Given the description of an element on the screen output the (x, y) to click on. 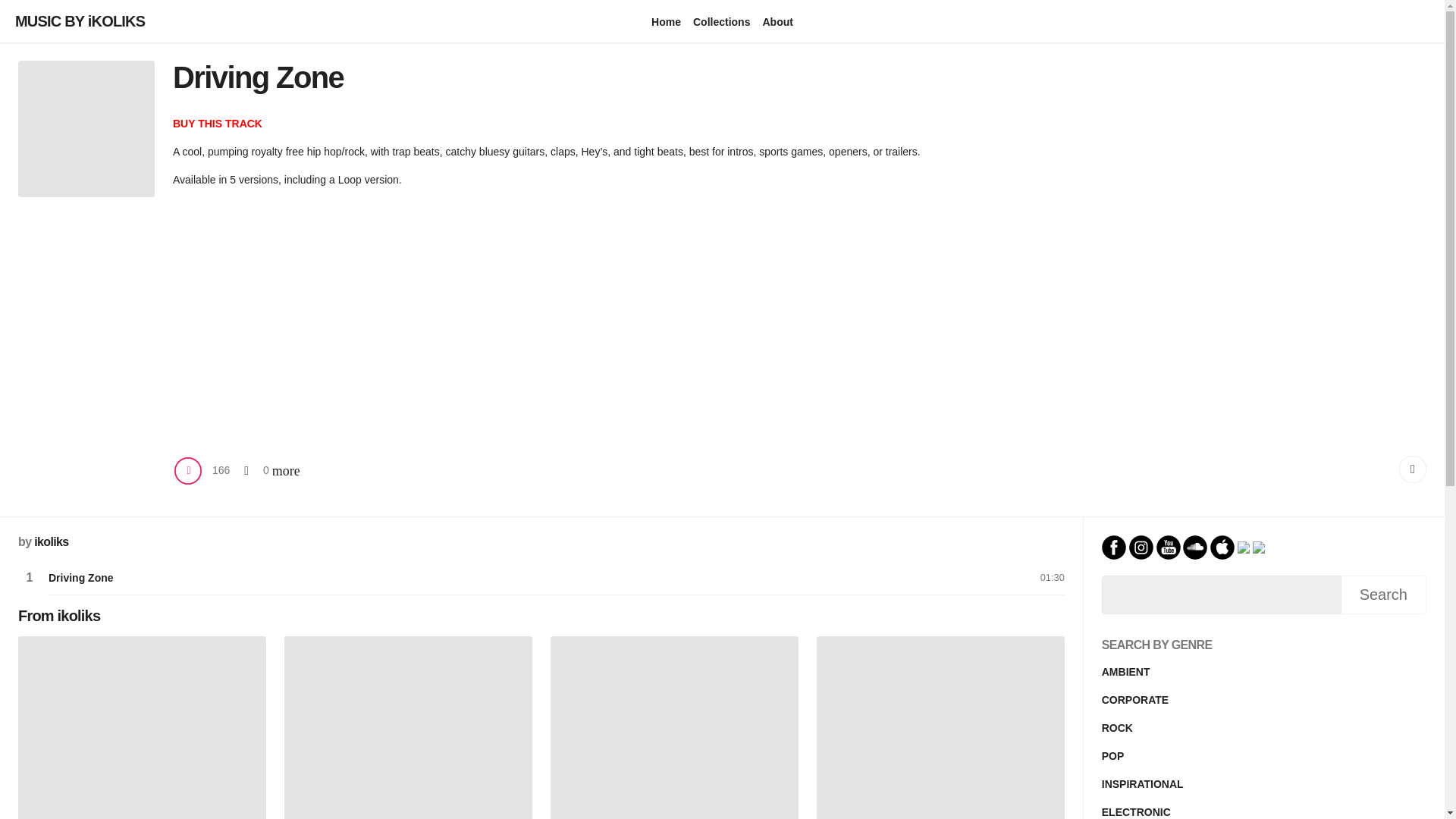
BUY THIS TRACK (217, 123)
Posts by ikoliks (50, 541)
0 (250, 469)
Collections (721, 21)
MUSIC BY iKOLIKS (77, 21)
Driving Zone (80, 577)
ikoliks (50, 541)
